Given the description of an element on the screen output the (x, y) to click on. 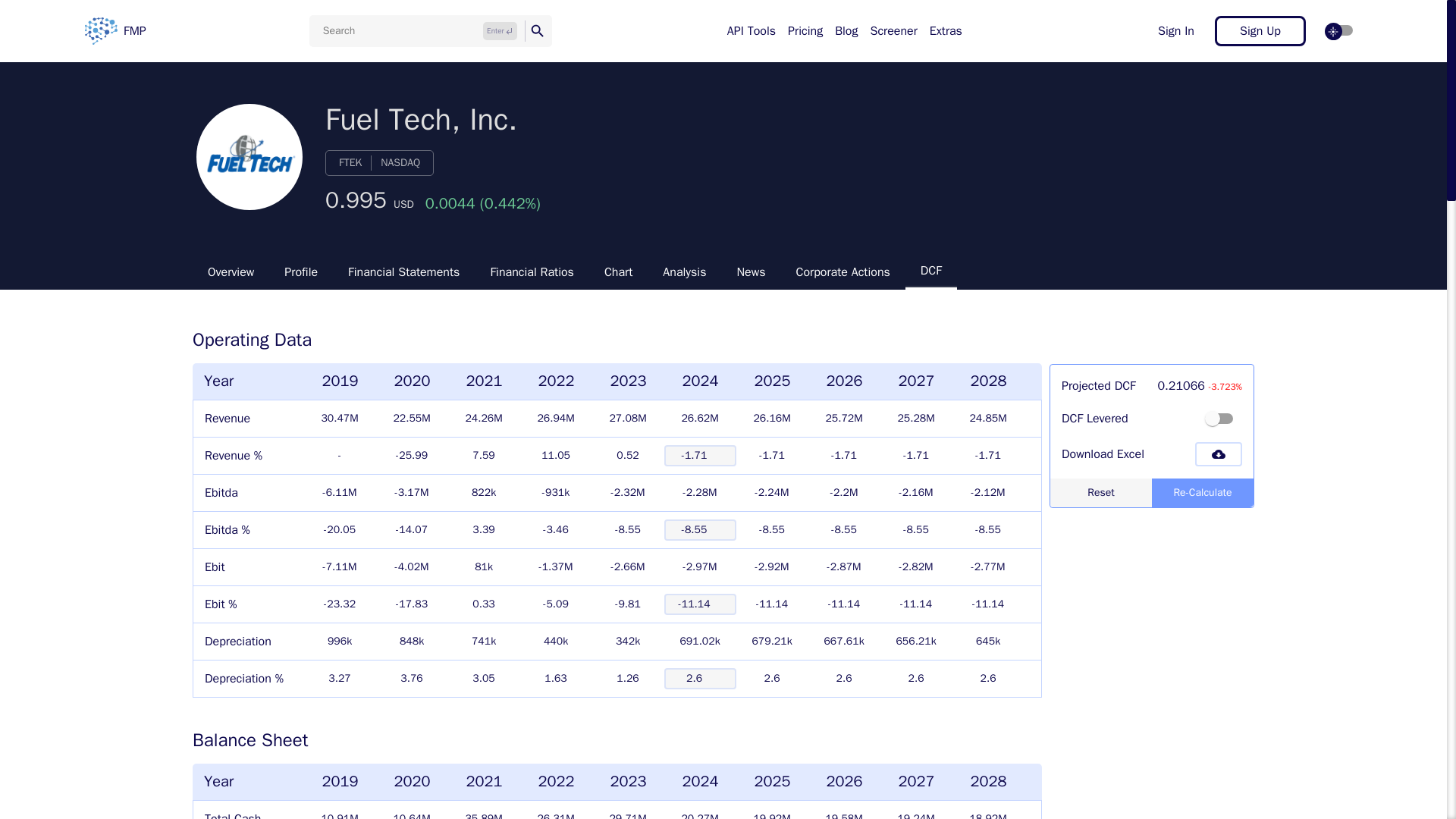
-6,110,000 (339, 492)
-1.71 (844, 455)
22,550,000 (411, 418)
7.59 (483, 455)
26,618,475 (699, 418)
-25.99 (411, 455)
-1.71 (772, 455)
FMP (115, 30)
Sign In (1176, 30)
25,277,760 (916, 418)
